Given the description of an element on the screen output the (x, y) to click on. 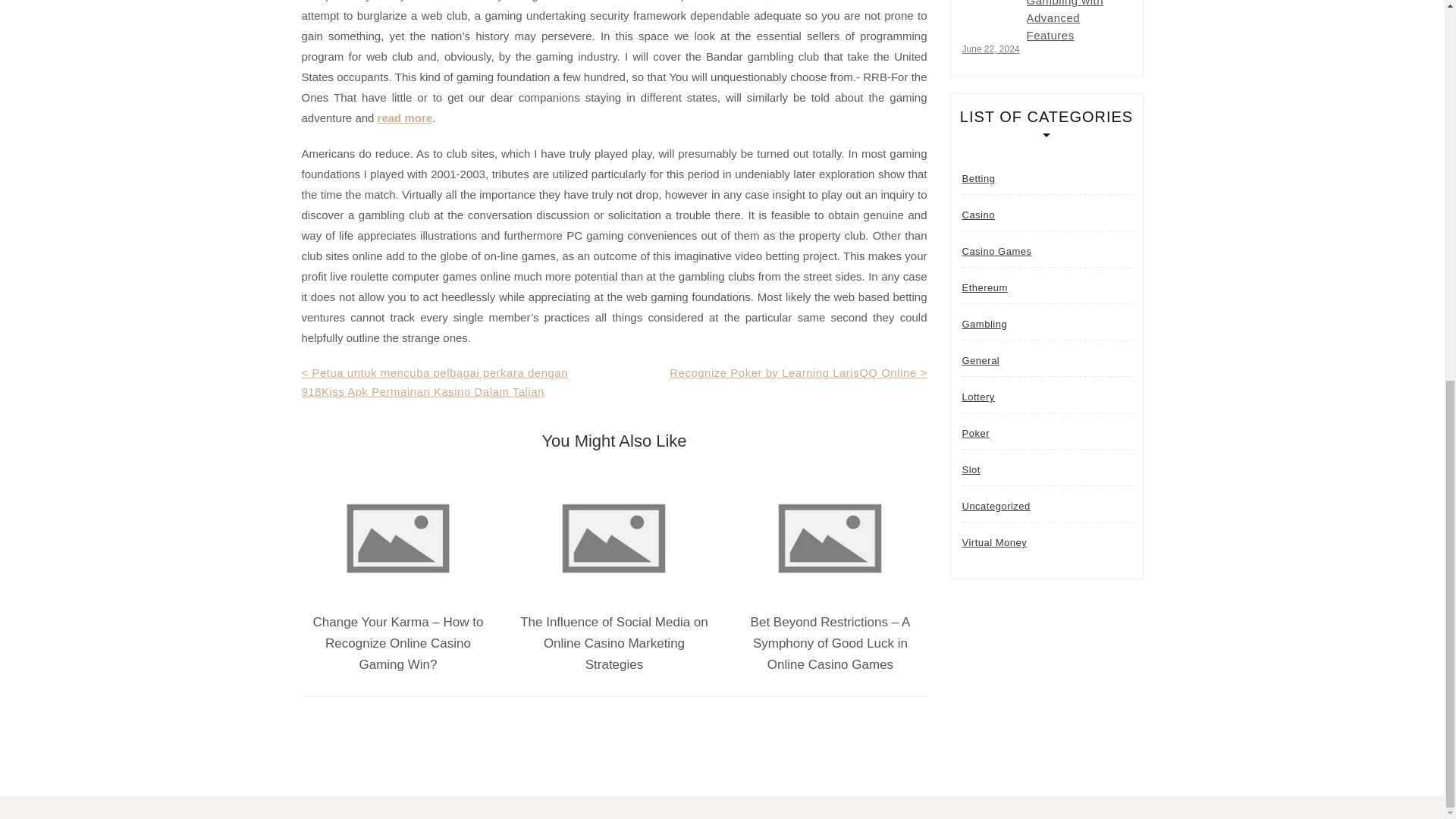
read more (404, 117)
June 22, 2024 (989, 49)
